Given the description of an element on the screen output the (x, y) to click on. 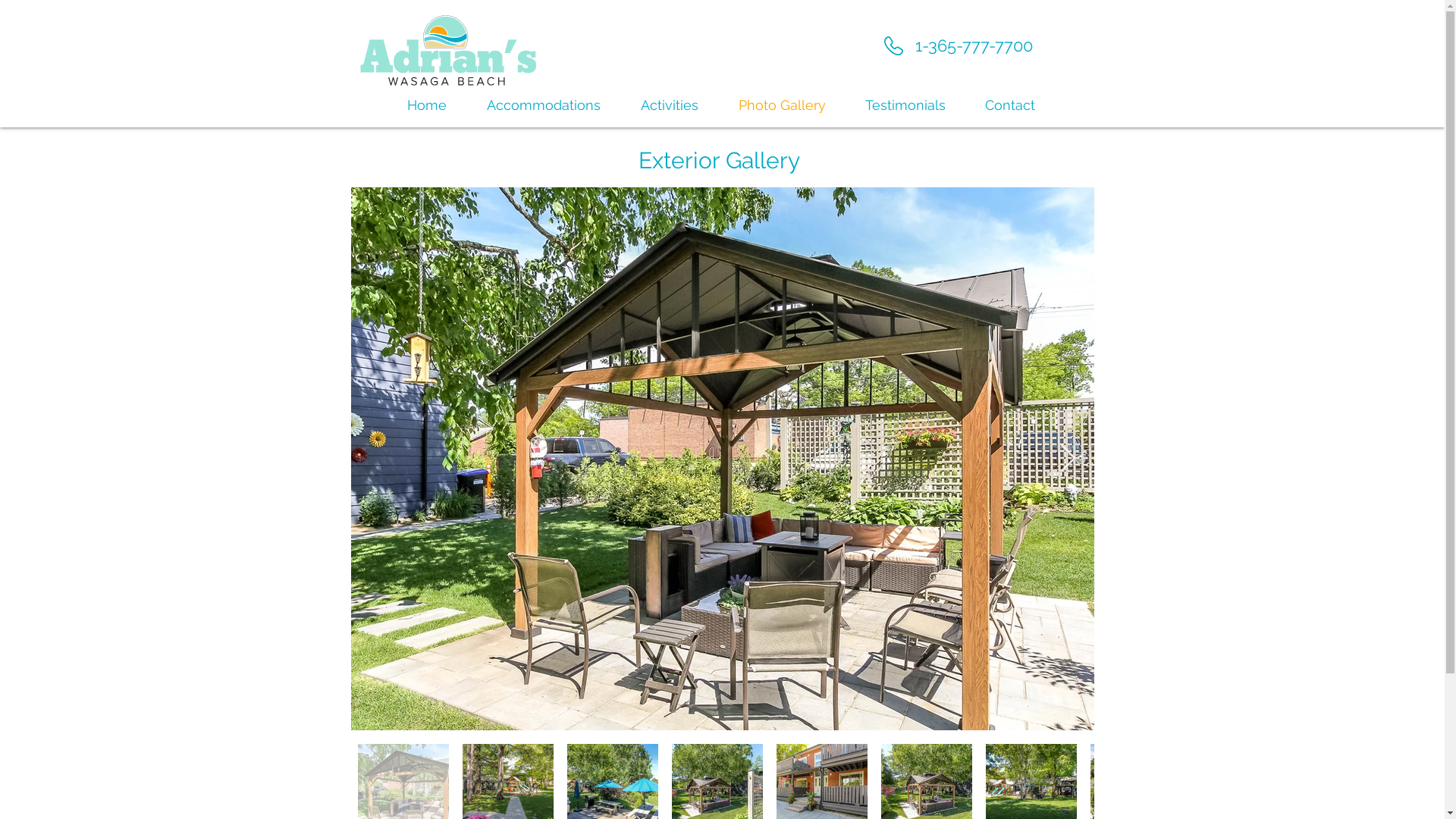
1-365-777-7700 Element type: text (973, 45)
Accommodations Element type: text (544, 103)
Activities Element type: text (669, 103)
Contact Element type: text (1009, 103)
Testimonials Element type: text (904, 103)
Photo Gallery Element type: text (781, 103)
Home Element type: text (426, 103)
